Given the description of an element on the screen output the (x, y) to click on. 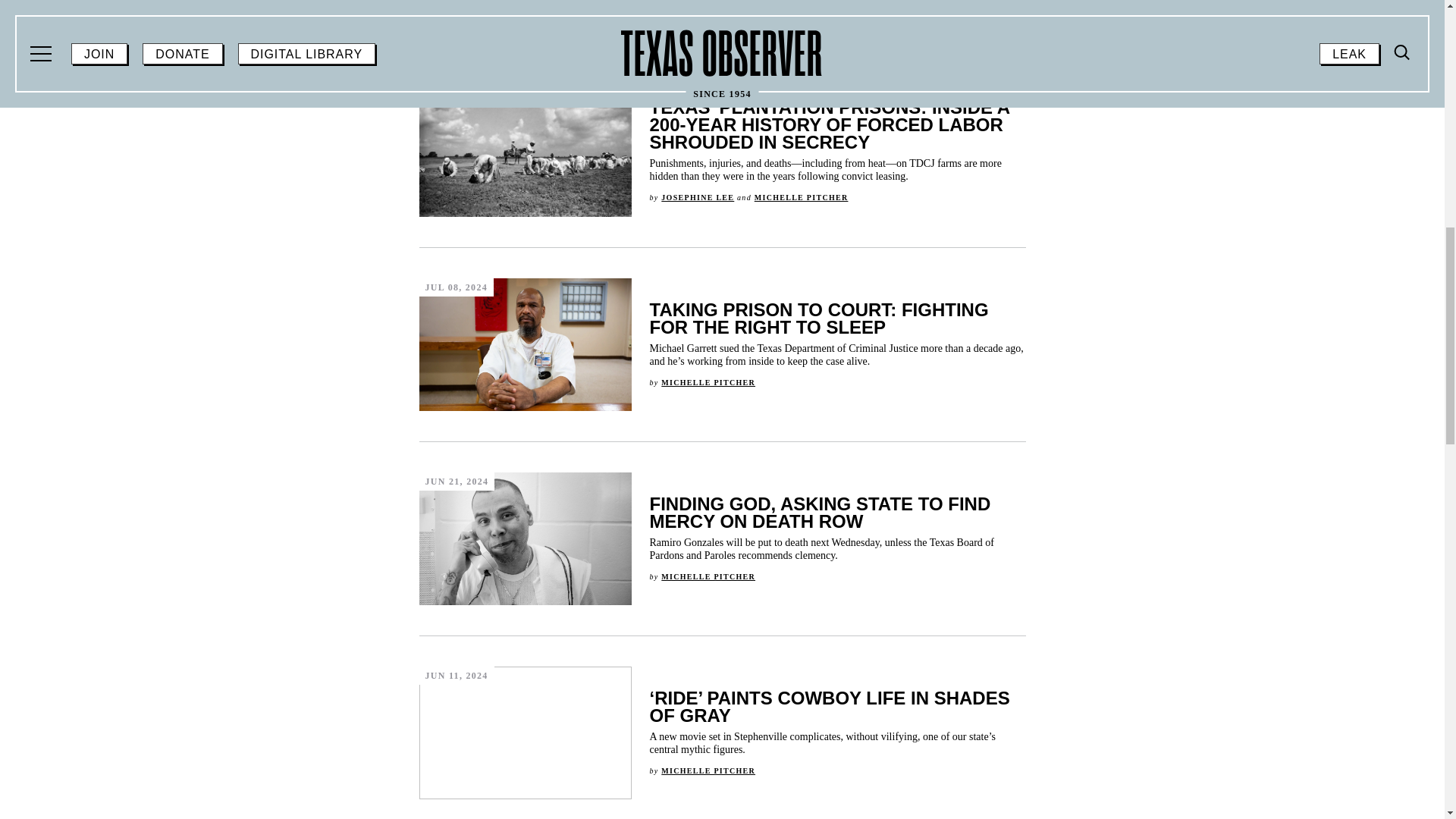
Post by Michelle Pitcher (708, 382)
Post by Josephine Lee (697, 196)
Post by Michelle Pitcher (708, 576)
Post by Michelle Pitcher (801, 196)
Post by Michelle Pitcher (708, 770)
